Given the description of an element on the screen output the (x, y) to click on. 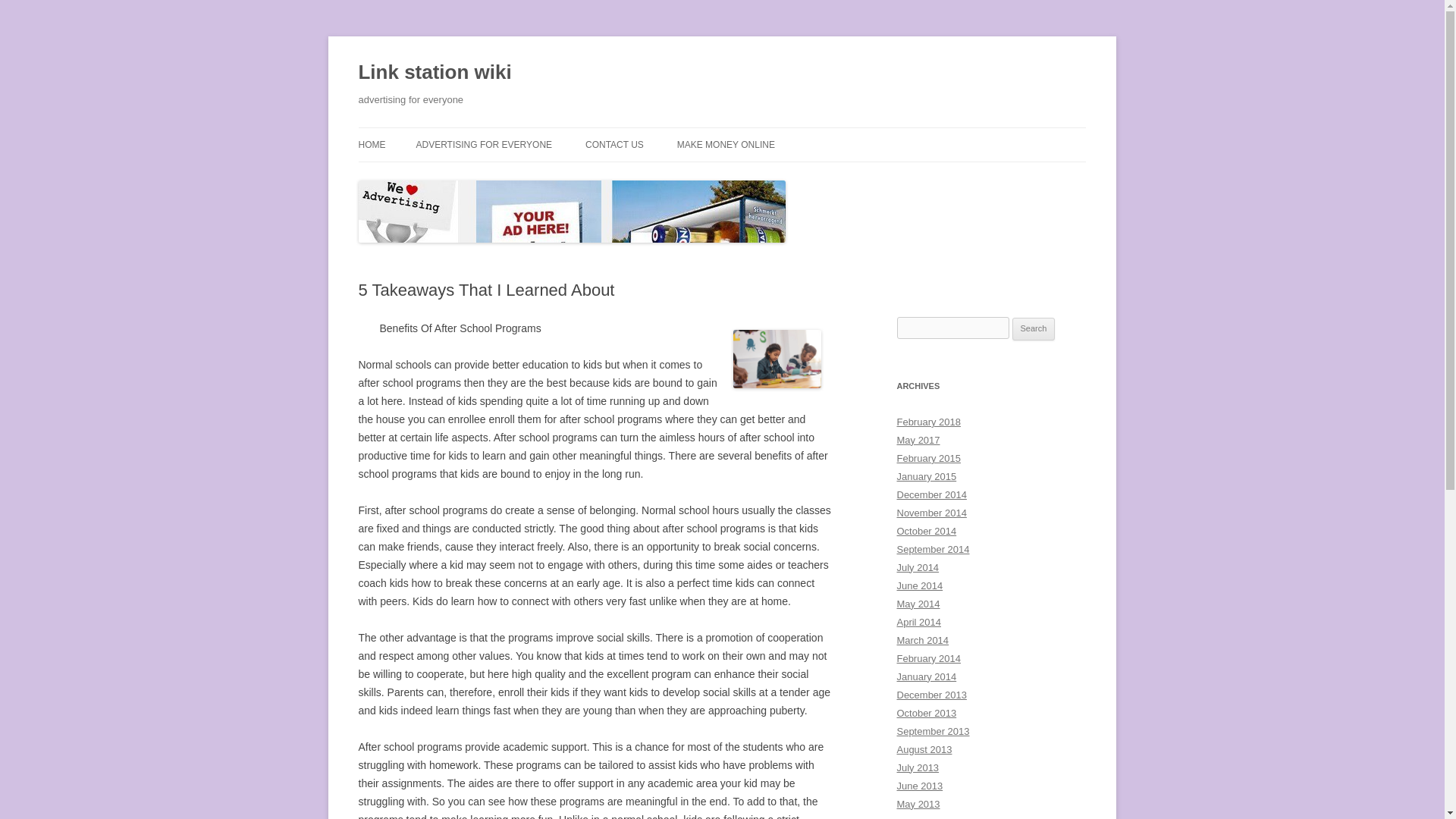
November 2014 (931, 512)
July 2013 (917, 767)
June 2014 (919, 585)
ADVERTISING FOR EVERYONE (482, 144)
July 2014 (917, 567)
CONTACT US (614, 144)
September 2013 (932, 731)
April 2014 (918, 622)
Search (1033, 328)
February 2018 (927, 421)
February 2014 (927, 658)
Link station wiki (434, 72)
October 2013 (926, 713)
January 2014 (926, 676)
Search (1033, 328)
